Given the description of an element on the screen output the (x, y) to click on. 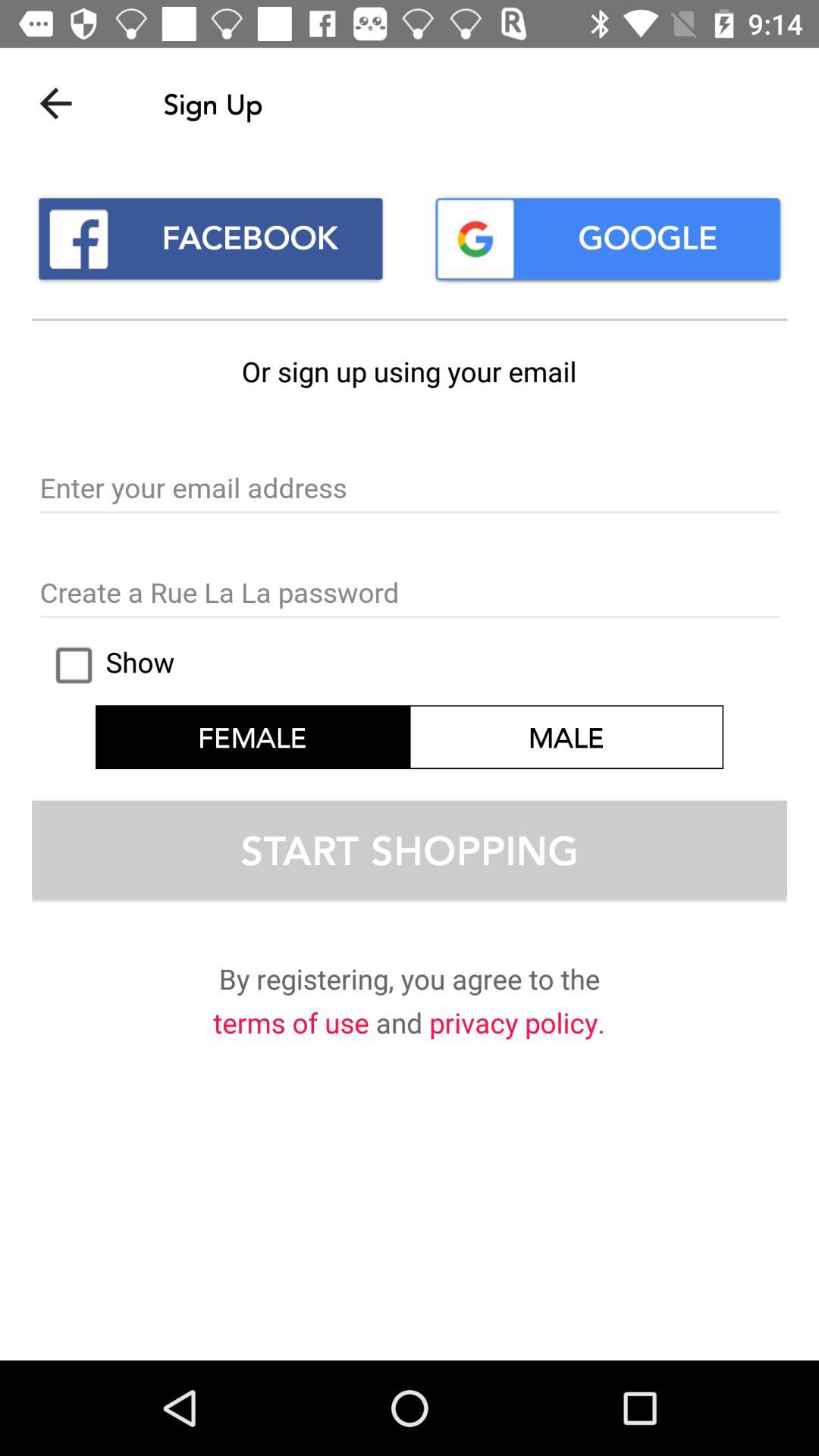
choose facebook (210, 238)
